Given the description of an element on the screen output the (x, y) to click on. 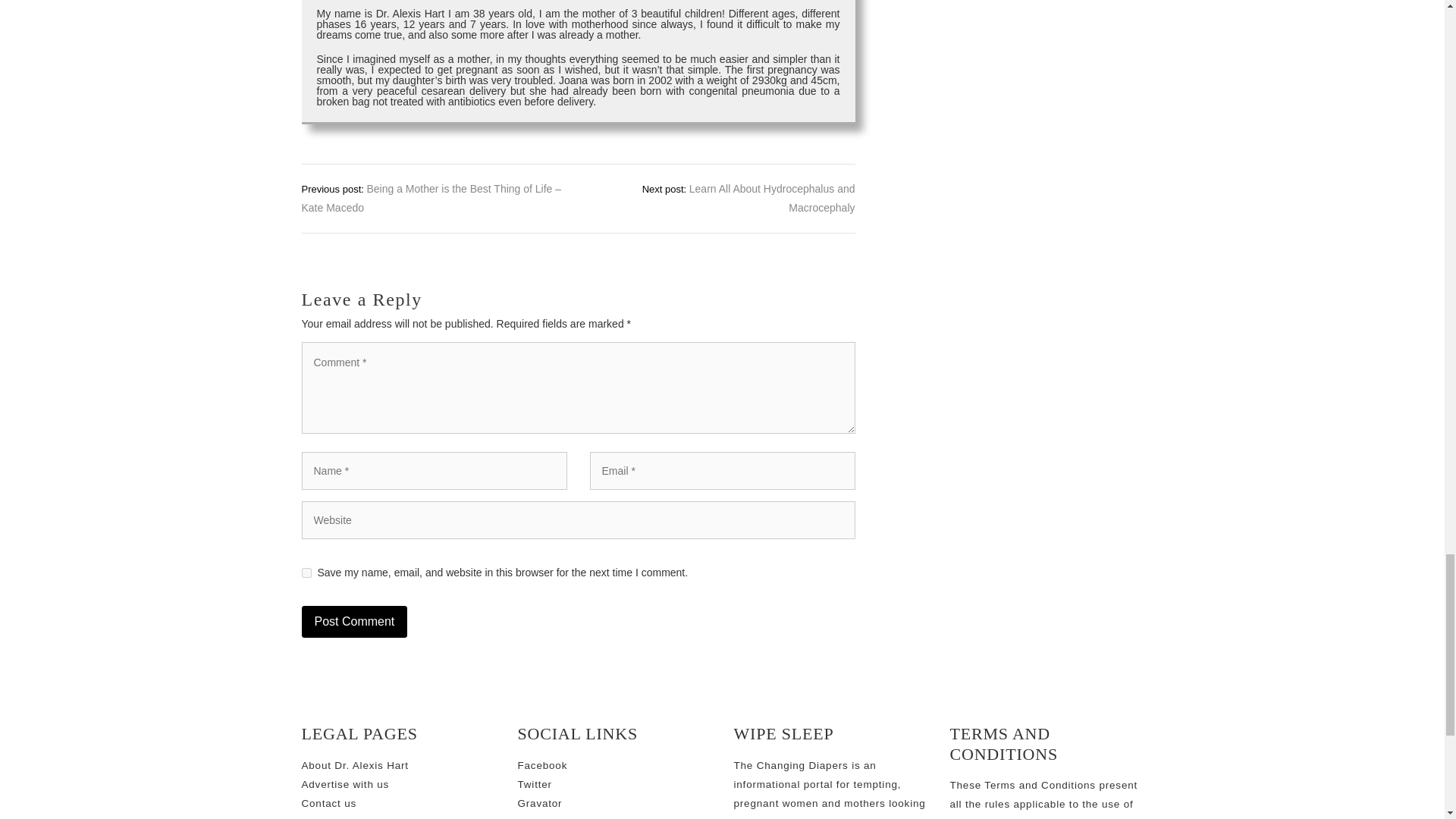
yes (306, 573)
Post Comment (354, 622)
